Given the description of an element on the screen output the (x, y) to click on. 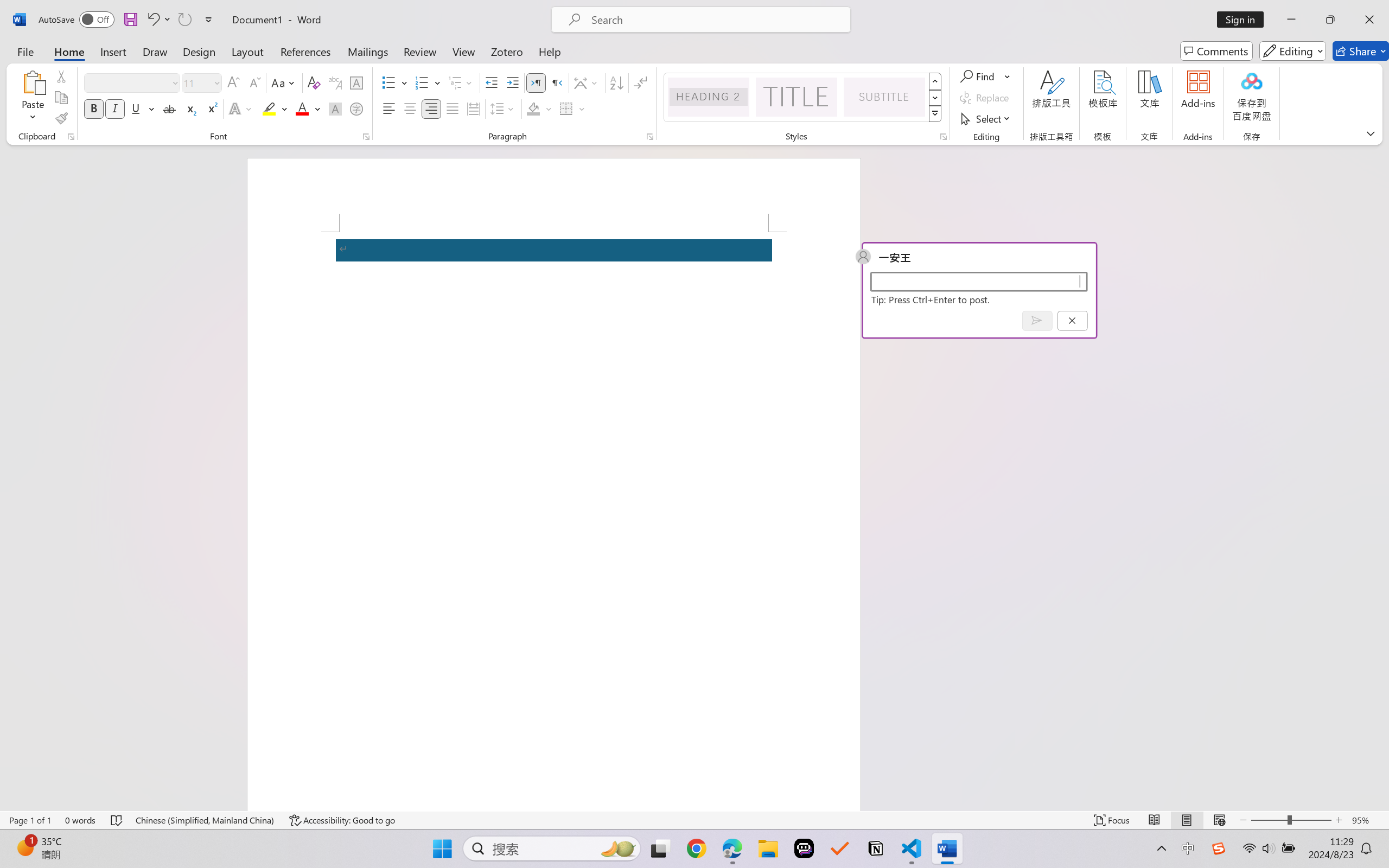
Font Color RGB(255, 0, 0) (302, 108)
